Given the description of an element on the screen output the (x, y) to click on. 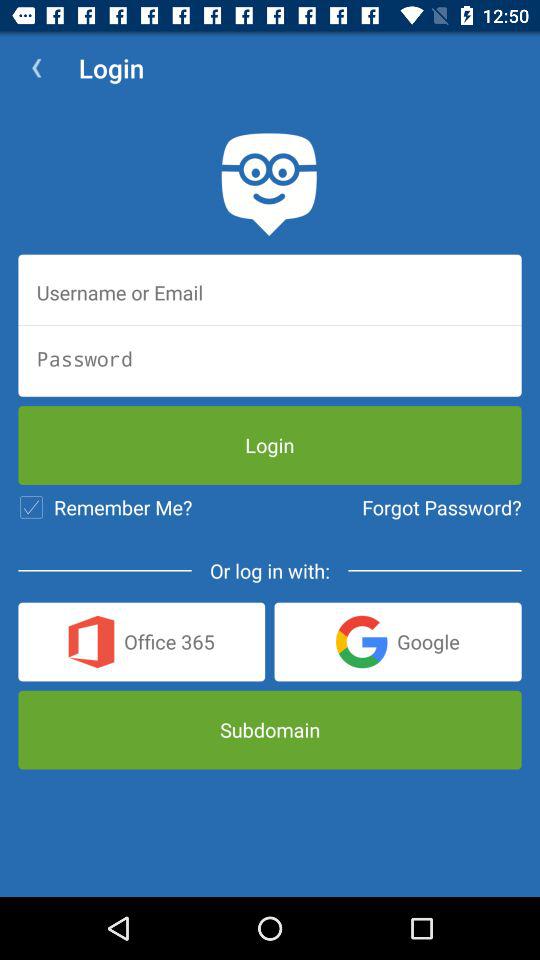
turn on item next to remember me? (441, 507)
